Given the description of an element on the screen output the (x, y) to click on. 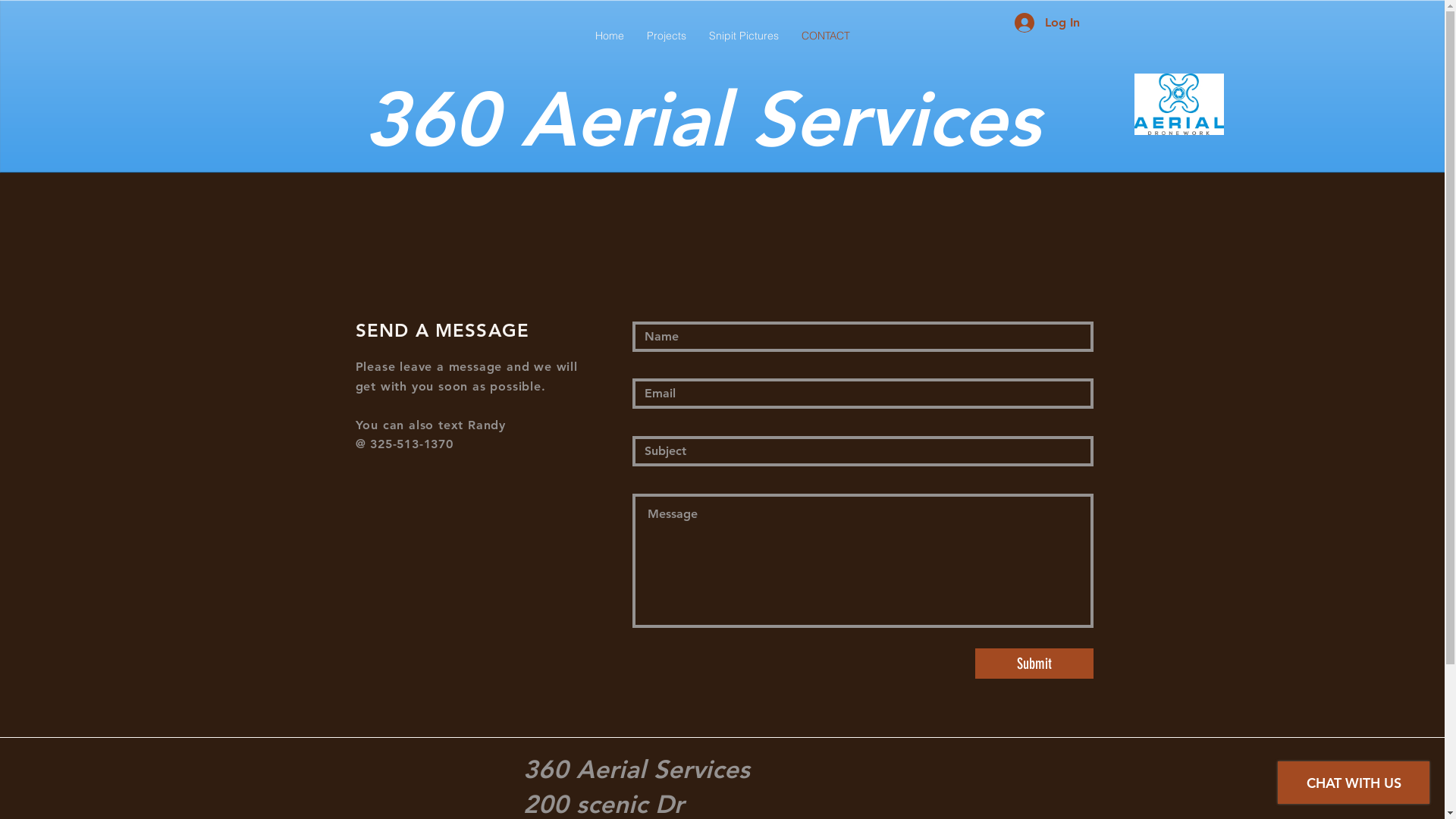
aerial-logo-drone-modern-technology-desi Element type: hover (1178, 103)
Projects Element type: text (666, 35)
Submit Element type: text (1034, 663)
CONTACT Element type: text (825, 35)
Snipit Pictures Element type: text (743, 35)
Log In Element type: text (1047, 22)
Home Element type: text (609, 35)
